Given the description of an element on the screen output the (x, y) to click on. 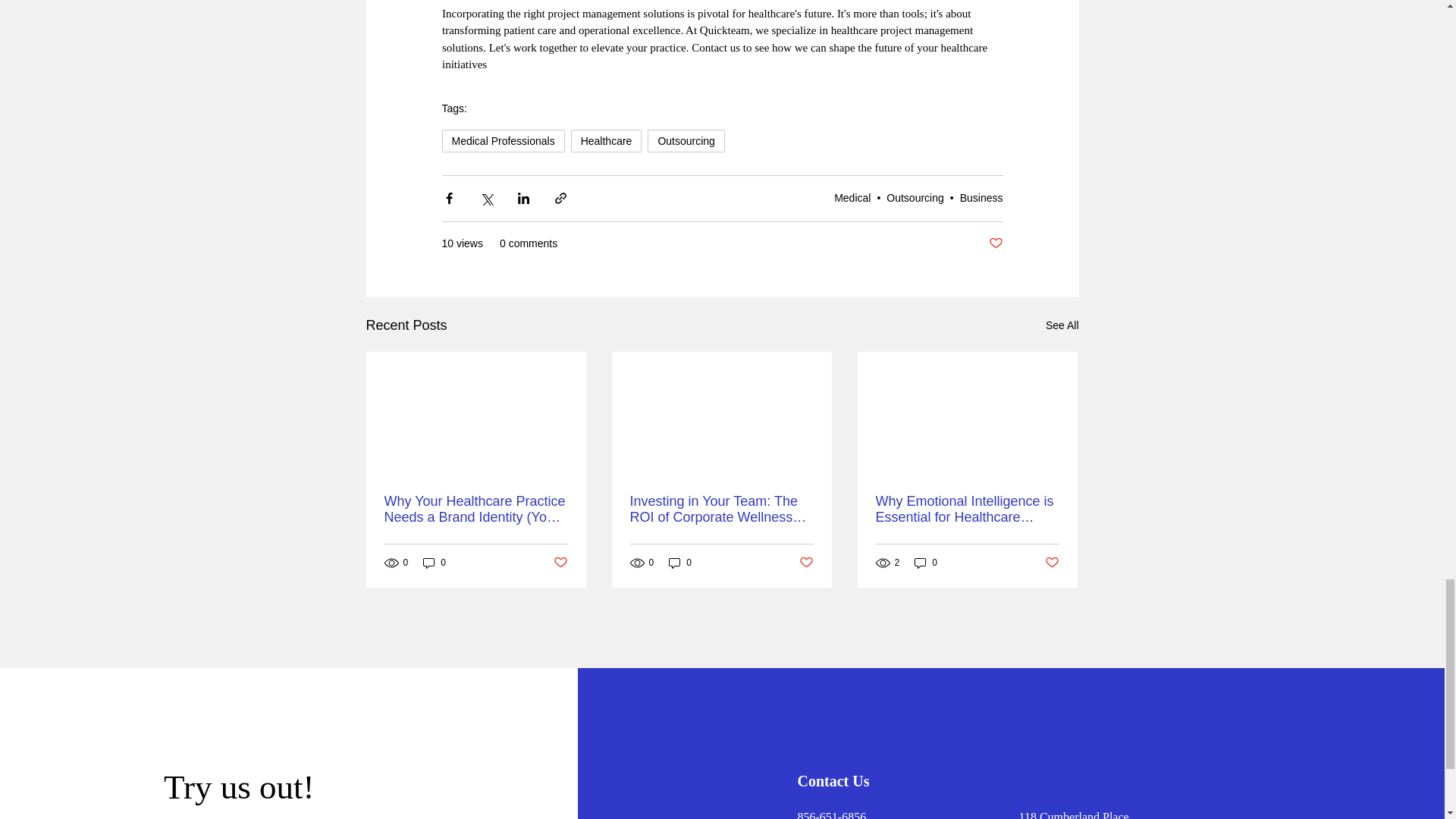
Medical (852, 197)
Post not marked as liked (1052, 562)
Business (981, 197)
Post not marked as liked (560, 562)
0 (925, 562)
Outsourcing (685, 140)
Healthcare (606, 140)
Medical Professionals (502, 140)
Post not marked as liked (806, 562)
0 (679, 562)
Outsourcing (914, 197)
856-651-6856 (831, 814)
See All (1061, 325)
